Given the description of an element on the screen output the (x, y) to click on. 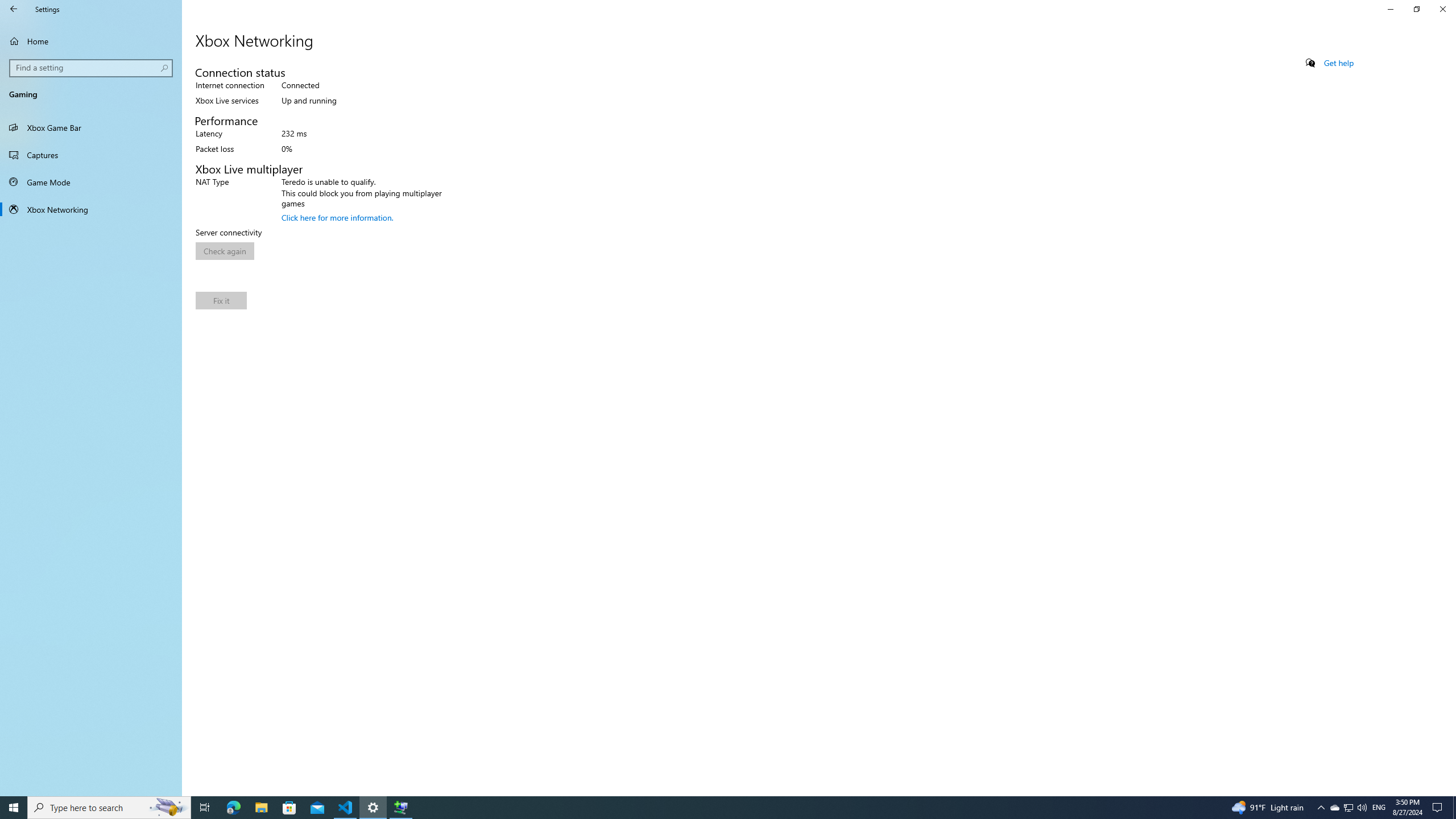
Game Mode (91, 181)
Minimize Settings (1390, 9)
Home (91, 40)
Show desktop (1454, 807)
Settings - 1 running window (373, 807)
Microsoft Store (289, 807)
